Given the description of an element on the screen output the (x, y) to click on. 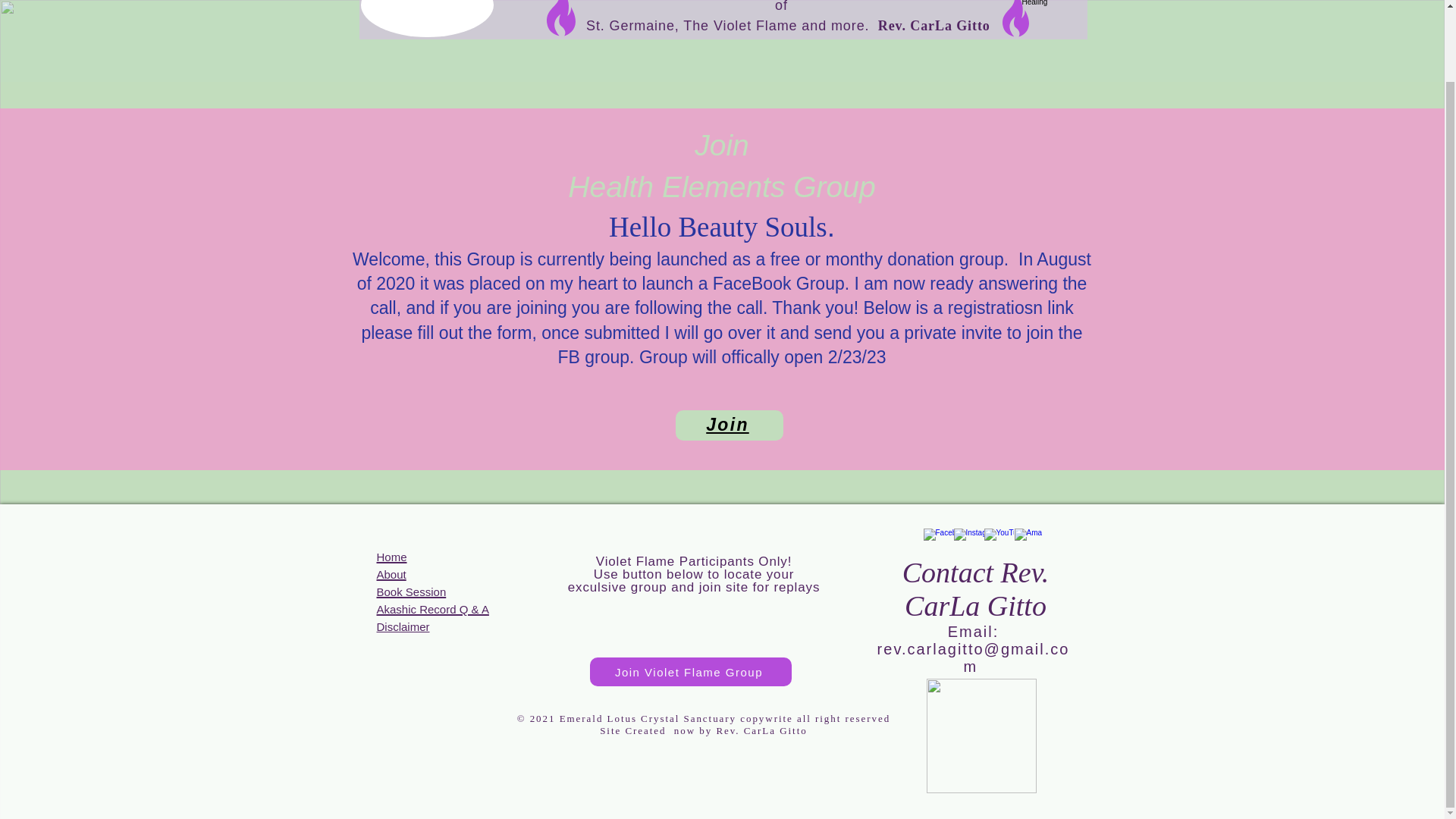
About (390, 573)
 Raving Fans Reviews (1054, 18)
Join Violet Flame Group (690, 671)
 Raving Fans Reviews (519, 17)
Join (729, 425)
Home (390, 555)
Disclaimer (402, 625)
Book Session (410, 590)
